Given the description of an element on the screen output the (x, y) to click on. 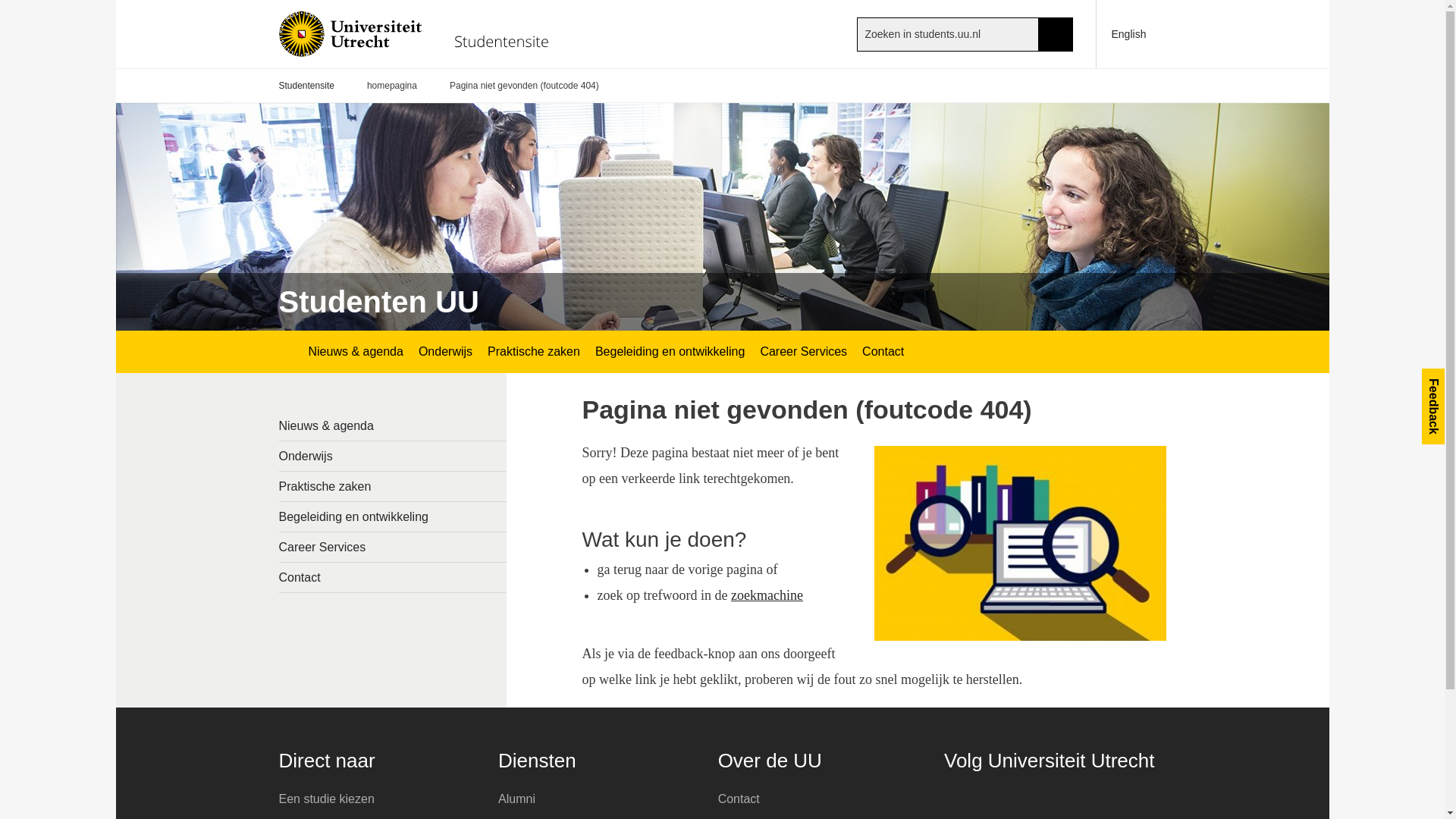
Onderwijs (392, 455)
Een studie kiezen (377, 798)
Studentensite (306, 85)
Home (421, 33)
Career Services (392, 546)
Praktische zaken (392, 486)
Begeleiding en ontwikkeling (392, 516)
Praktische zaken (534, 351)
zoekmachine (766, 595)
ZOEKEN (1056, 33)
